Given the description of an element on the screen output the (x, y) to click on. 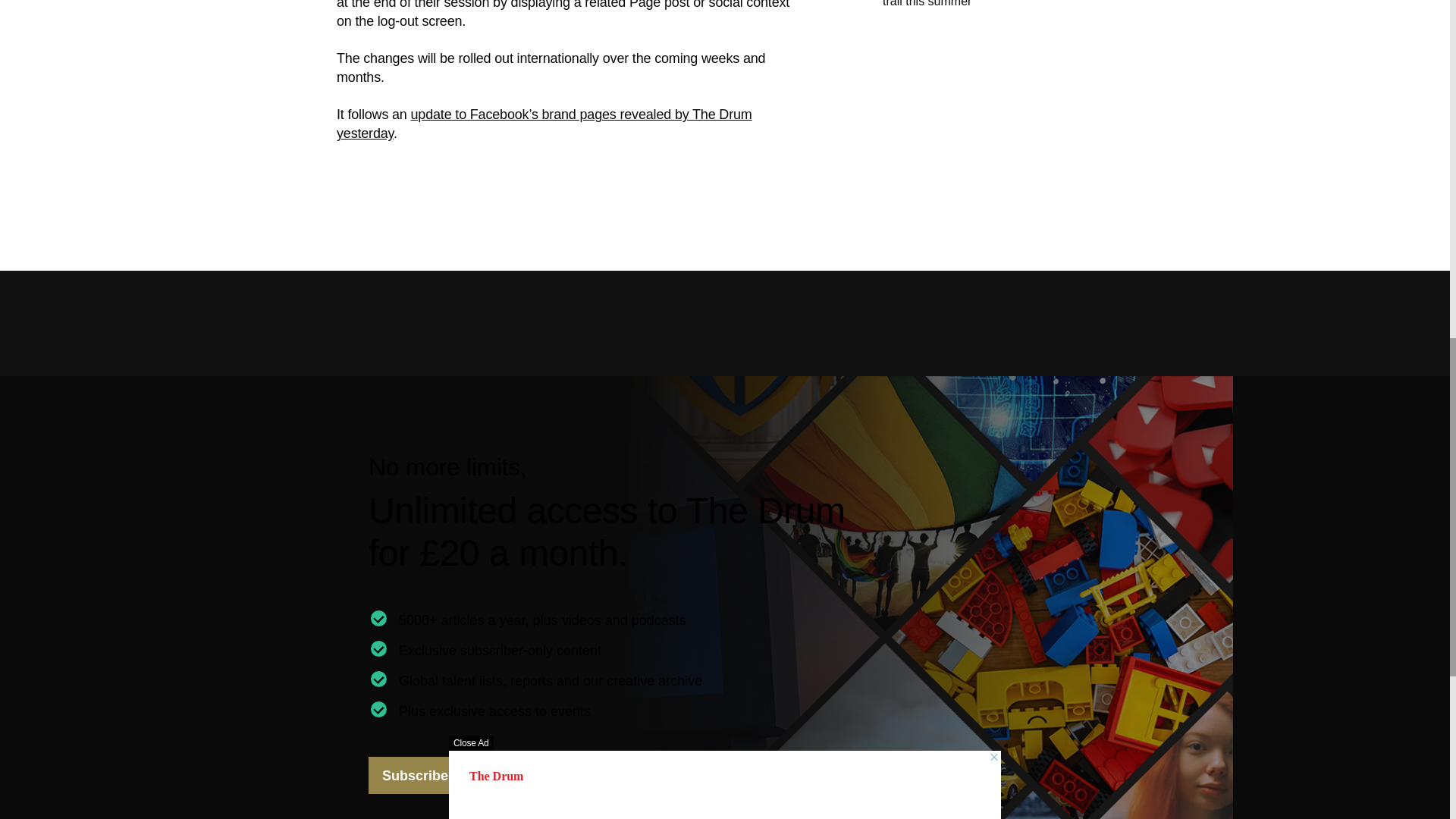
3rd party ad content (108, 25)
